Given the description of an element on the screen output the (x, y) to click on. 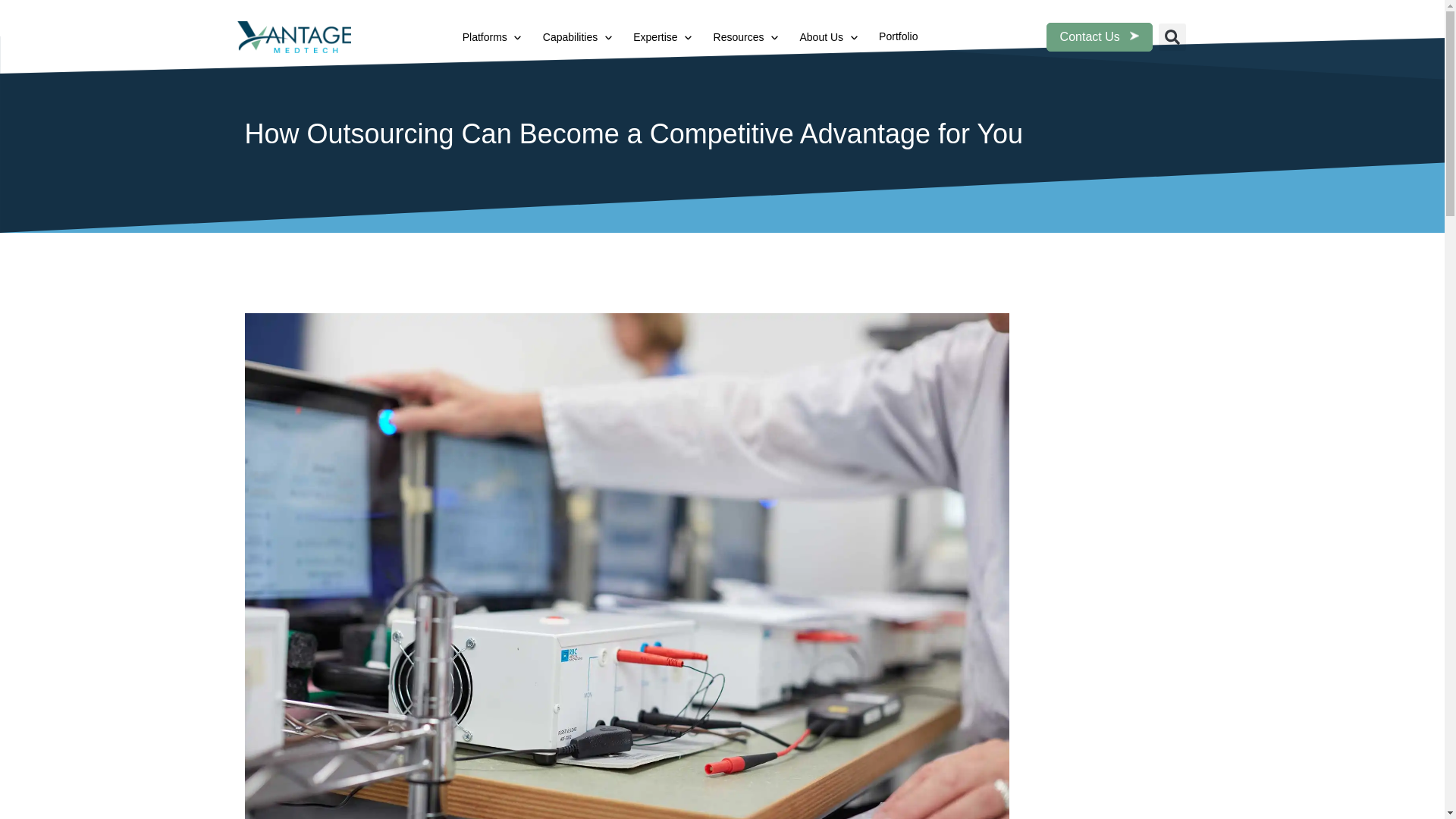
Resources (738, 37)
Expertise (655, 37)
About Us (821, 37)
Capabilities (569, 37)
Platforms (484, 37)
Portfolio (898, 36)
Contact Us (1099, 36)
logo vantage (292, 37)
